Given the description of an element on the screen output the (x, y) to click on. 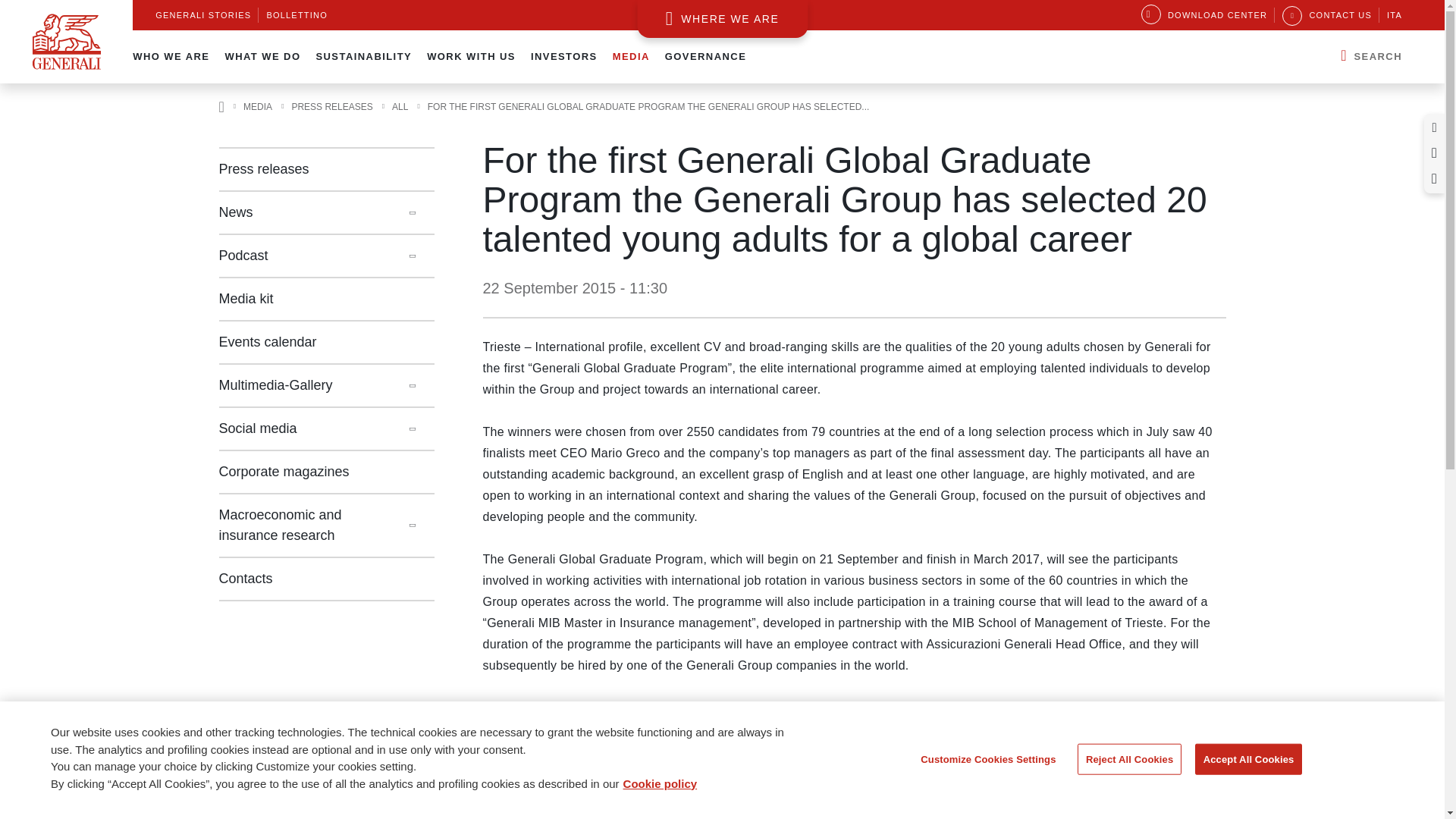
WHERE WE ARE (722, 18)
DOWNLOAD CENTER (1204, 15)
ITA (1394, 15)
GENERALI STORIES (202, 15)
BOLLETTINO (296, 15)
CONTACT US (1326, 15)
WHO WE ARE (170, 56)
